Given the description of an element on the screen output the (x, y) to click on. 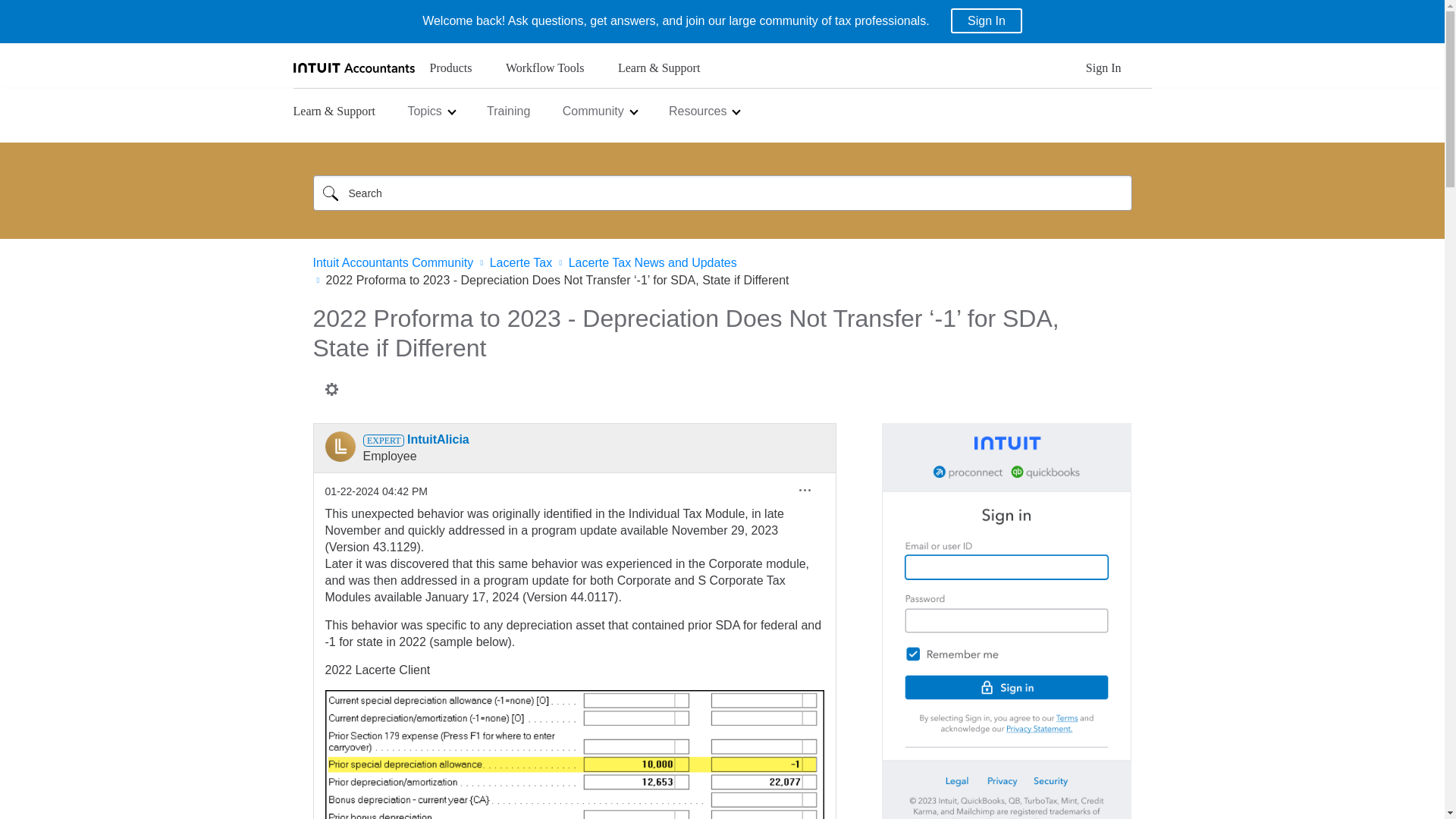
Sign In (986, 20)
Employee (382, 440)
Posted on (375, 491)
Sign In (1103, 72)
Show option menu (805, 490)
IntuitAlicia (339, 446)
Search (722, 192)
Search (330, 192)
SDA.png (574, 754)
Search (330, 192)
Show option menu (331, 388)
